Given the description of an element on the screen output the (x, y) to click on. 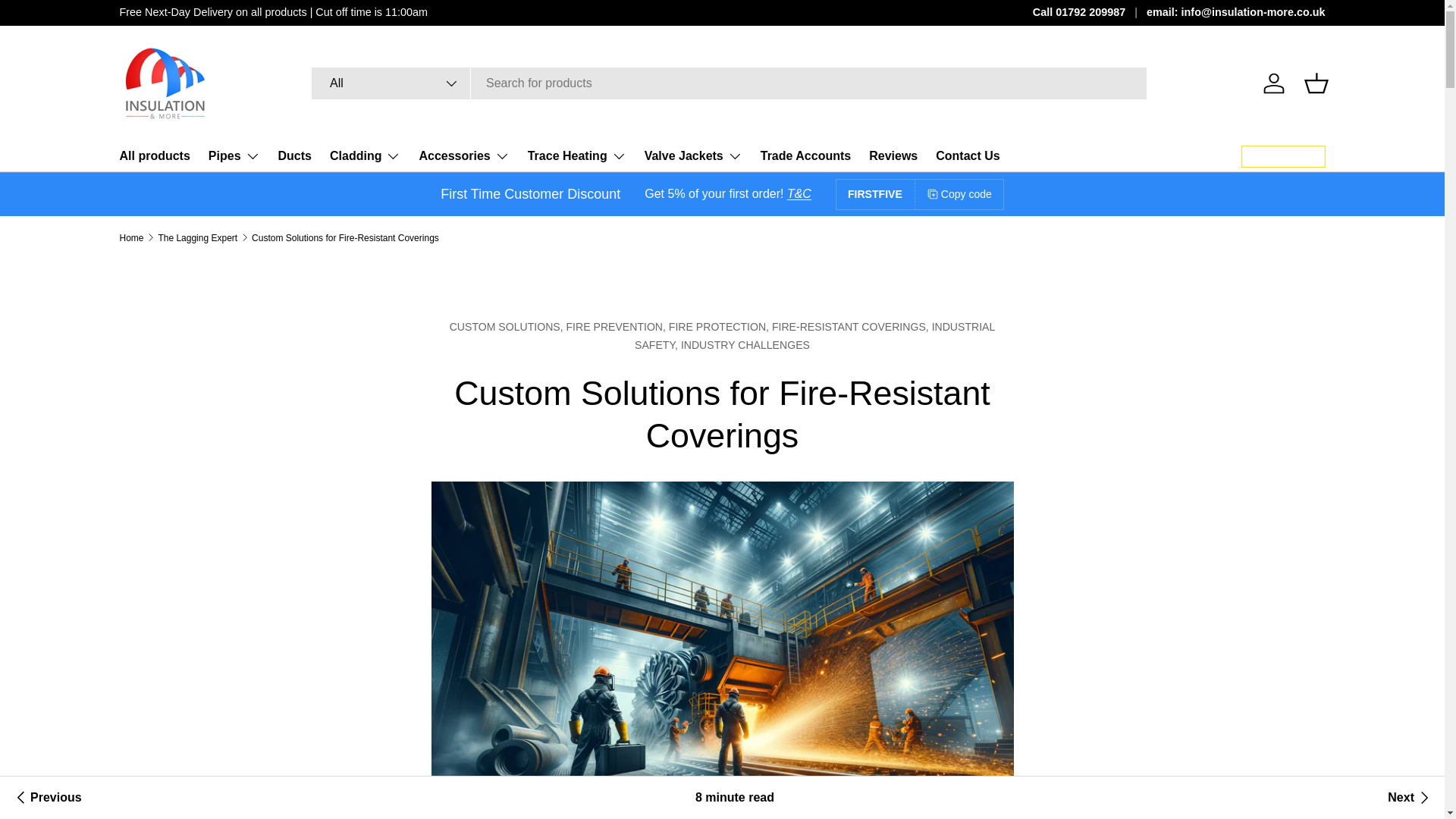
Ducts (294, 155)
All products (154, 155)
Log in (1273, 82)
Trace Heating (576, 155)
Accessories (463, 155)
Announcing Our Exclusive Discount for New Customers! (798, 193)
Skip to content (68, 21)
Safety Guidelines for Mastics (1409, 797)
Cladding (365, 155)
Eco-Friendly High-Temperature Mastics (46, 797)
